Given the description of an element on the screen output the (x, y) to click on. 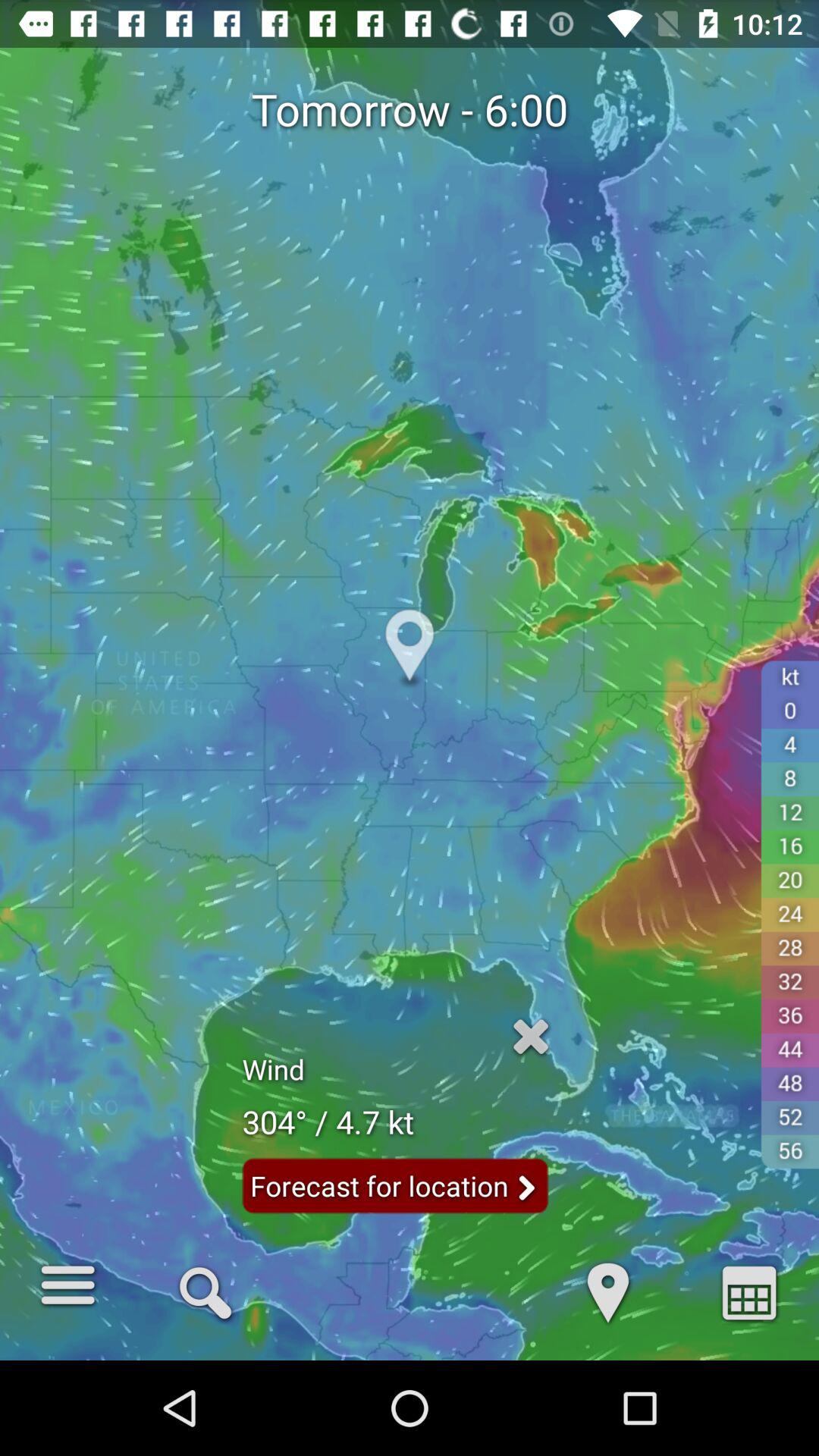
turn on the a item (749, 1291)
